Given the description of an element on the screen output the (x, y) to click on. 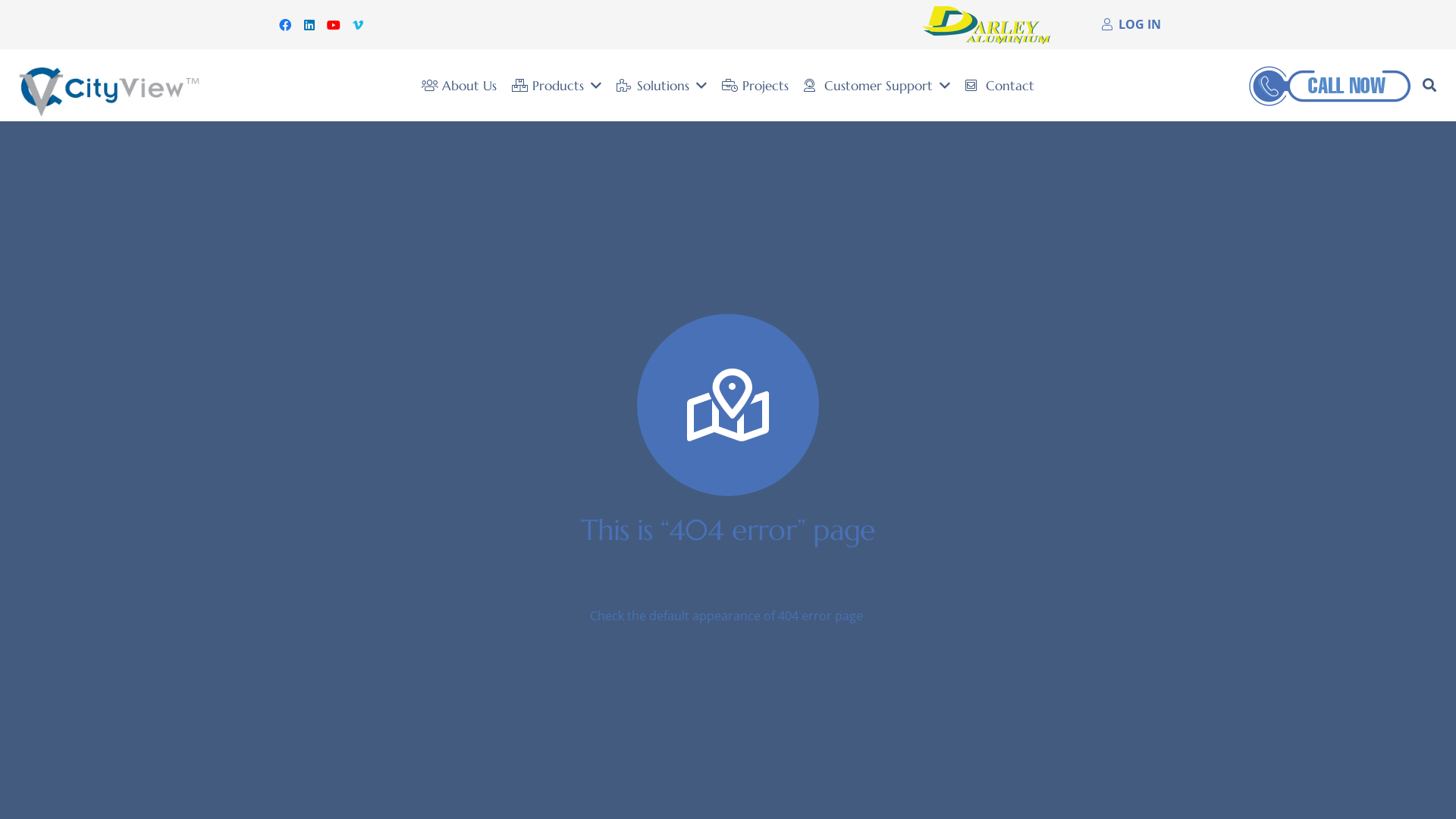
YouTube Element type: hover (333, 24)
Vimeo Element type: hover (357, 24)
Projects Element type: text (755, 85)
Products Element type: text (556, 85)
Contact Element type: text (999, 85)
LOG IN Element type: text (1131, 24)
Solutions Element type: text (661, 85)
Facebook Element type: hover (285, 24)
About Us Element type: text (459, 85)
LinkedIn Element type: hover (309, 24)
Check the default appearance of 404 error page Element type: text (725, 615)
Customer Support Element type: text (876, 85)
